Given the description of an element on the screen output the (x, y) to click on. 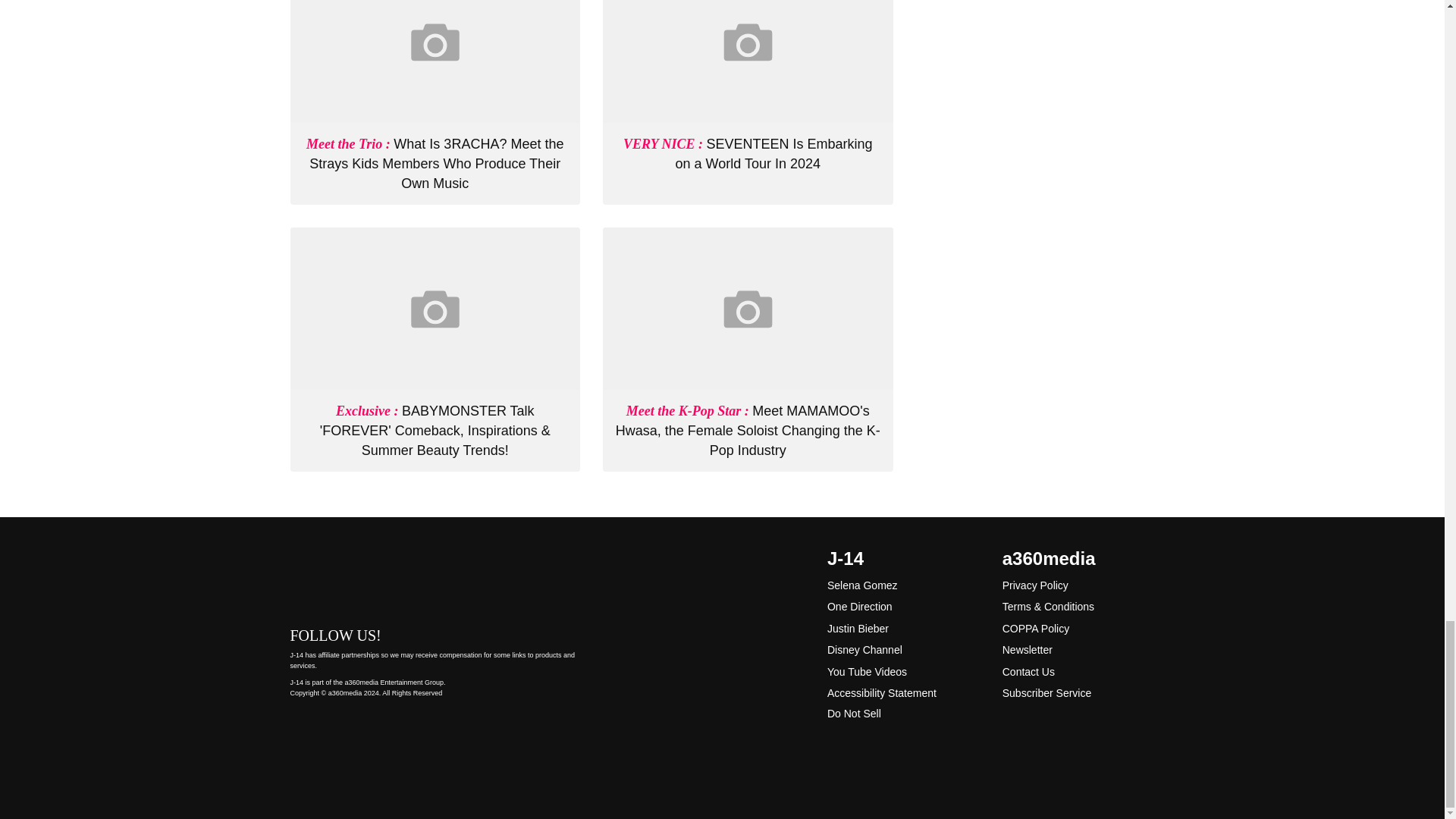
Home (434, 576)
VERY NICE SEVENTEEN Is Embarking on a World Tour In 2024 (747, 153)
